Given the description of an element on the screen output the (x, y) to click on. 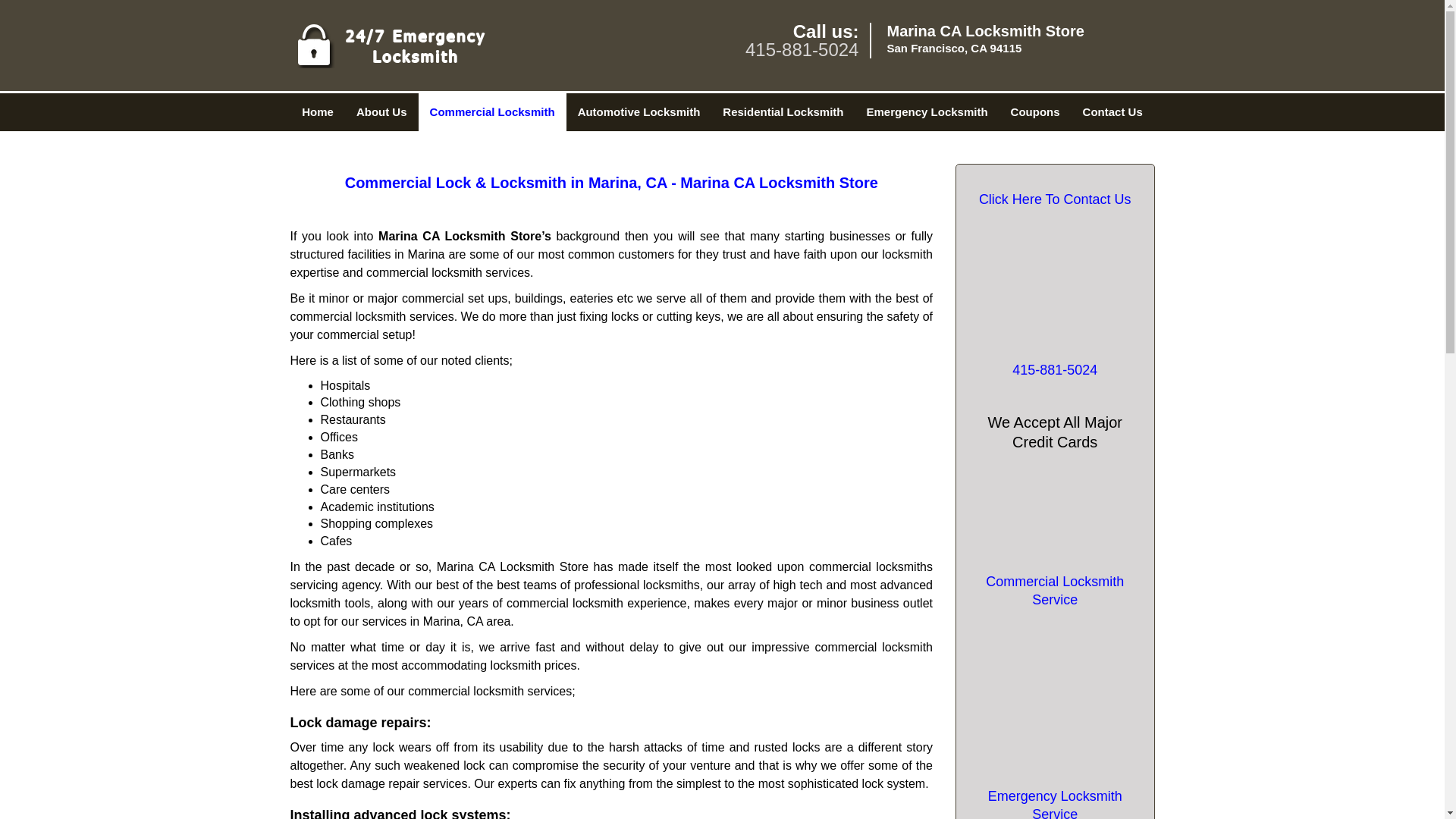
415-881-5024 (1054, 370)
Coupons (1034, 112)
Commercial Locksmith Service (1054, 590)
Emergency Locksmith (927, 112)
Emergency Locksmith Service (1054, 803)
415-881-5024 (802, 49)
Home (317, 112)
Residential Locksmith (782, 112)
About Us (382, 112)
Contact Us (1112, 112)
Commercial Locksmith (492, 112)
Click Here To Contact Us (1054, 199)
Automotive Locksmith (638, 112)
